Given the description of an element on the screen output the (x, y) to click on. 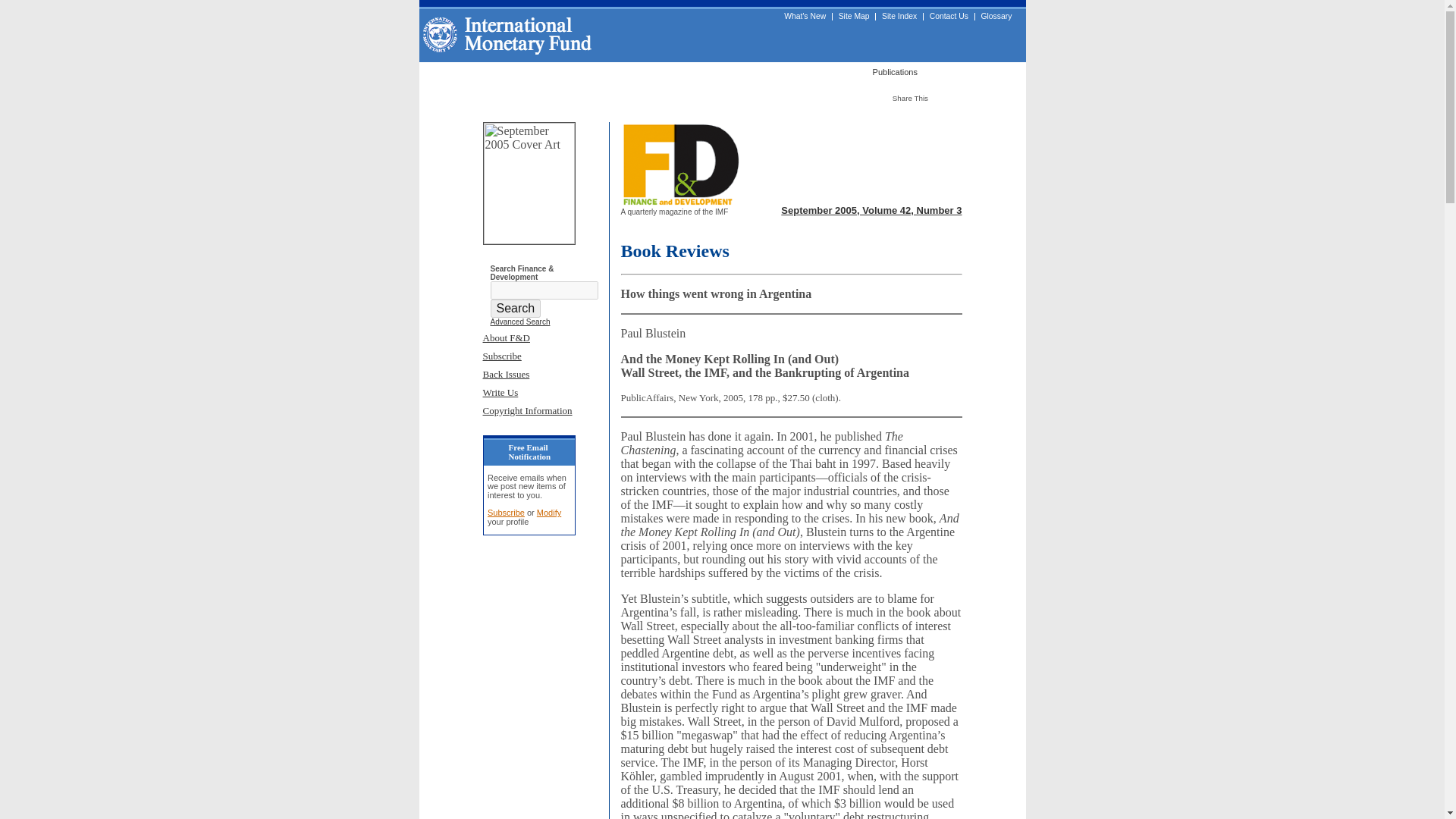
Share This (917, 97)
Glossary (996, 16)
Country Info (636, 70)
Site Map (854, 16)
September 2005, Volume 42, Number 3 (870, 210)
About the IMF (503, 70)
About the IMF (503, 70)
Data and Statistic (813, 70)
Home (441, 70)
News (694, 70)
